Given the description of an element on the screen output the (x, y) to click on. 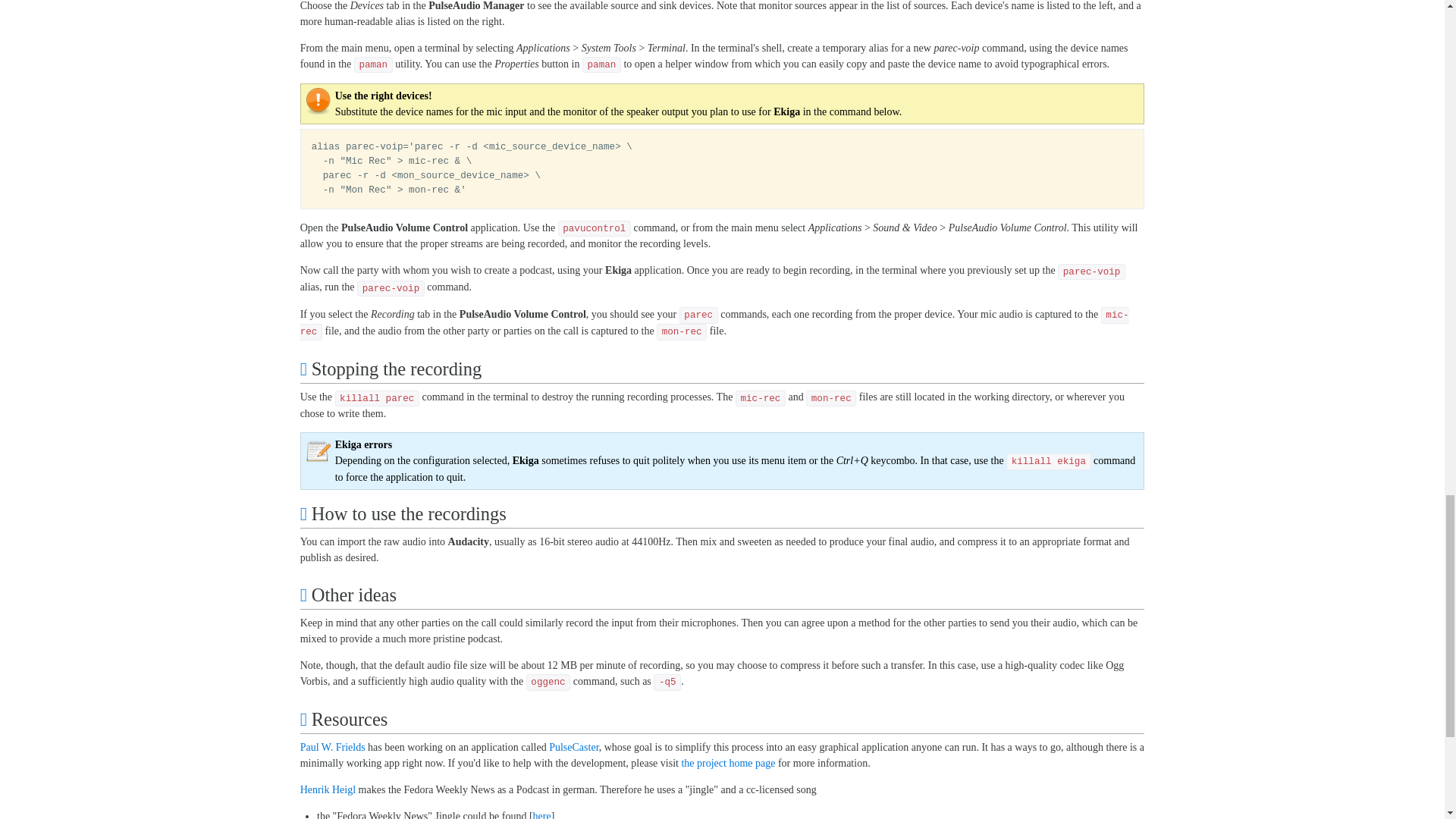
User:Wonderer (327, 789)
User:Pfrields (332, 747)
